Given the description of an element on the screen output the (x, y) to click on. 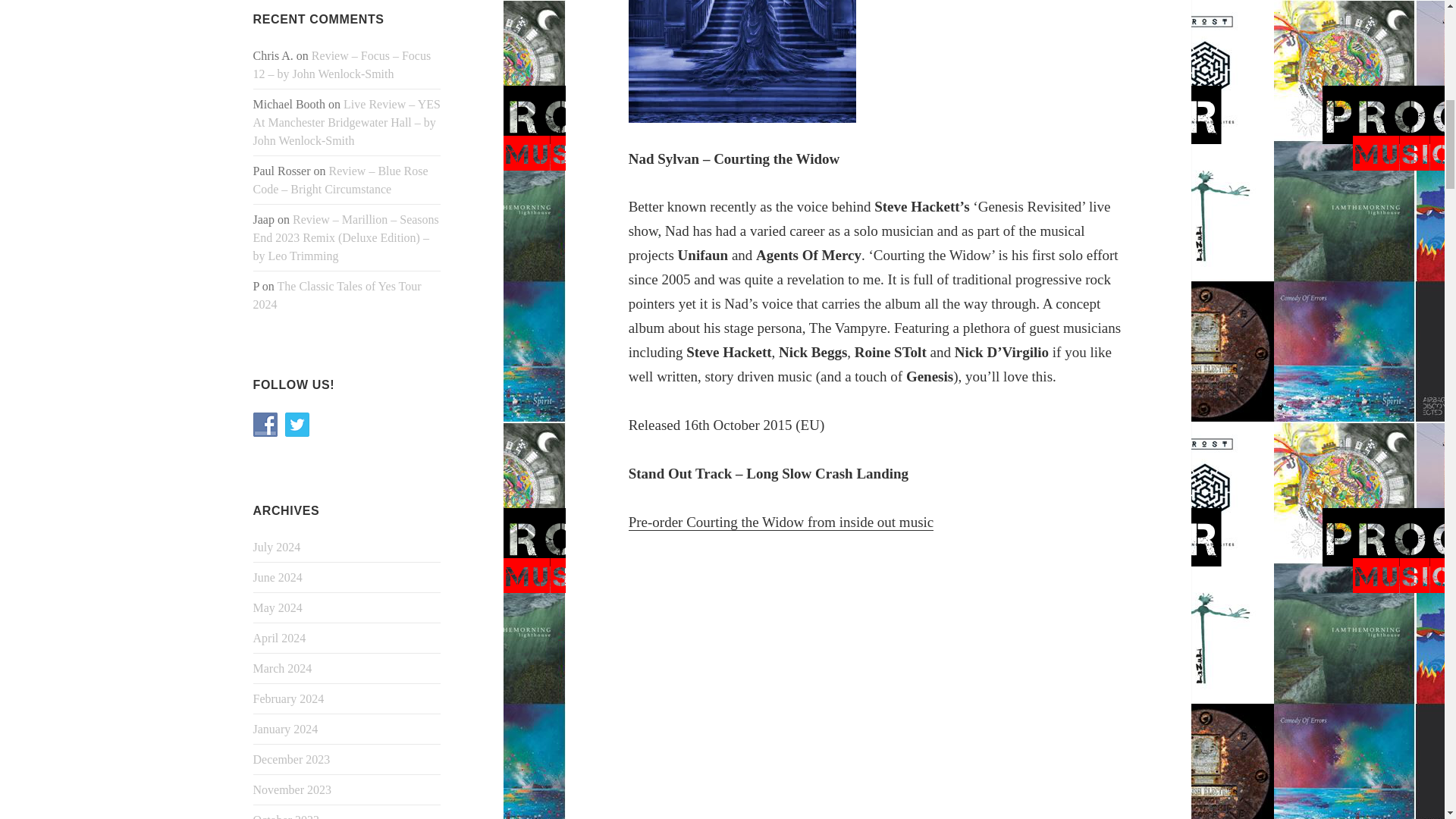
June 2024 (277, 576)
Facebook Progradar (265, 424)
April 2024 (279, 637)
January 2024 (285, 728)
November 2023 (292, 789)
July 2024 (277, 546)
The Classic Tales of Yes Tour 2024 (337, 295)
Twitter DTVoicesUK (296, 424)
February 2024 (288, 698)
May 2024 (277, 607)
December 2023 (291, 758)
October 2023 (286, 816)
March 2024 (283, 667)
